Given the description of an element on the screen output the (x, y) to click on. 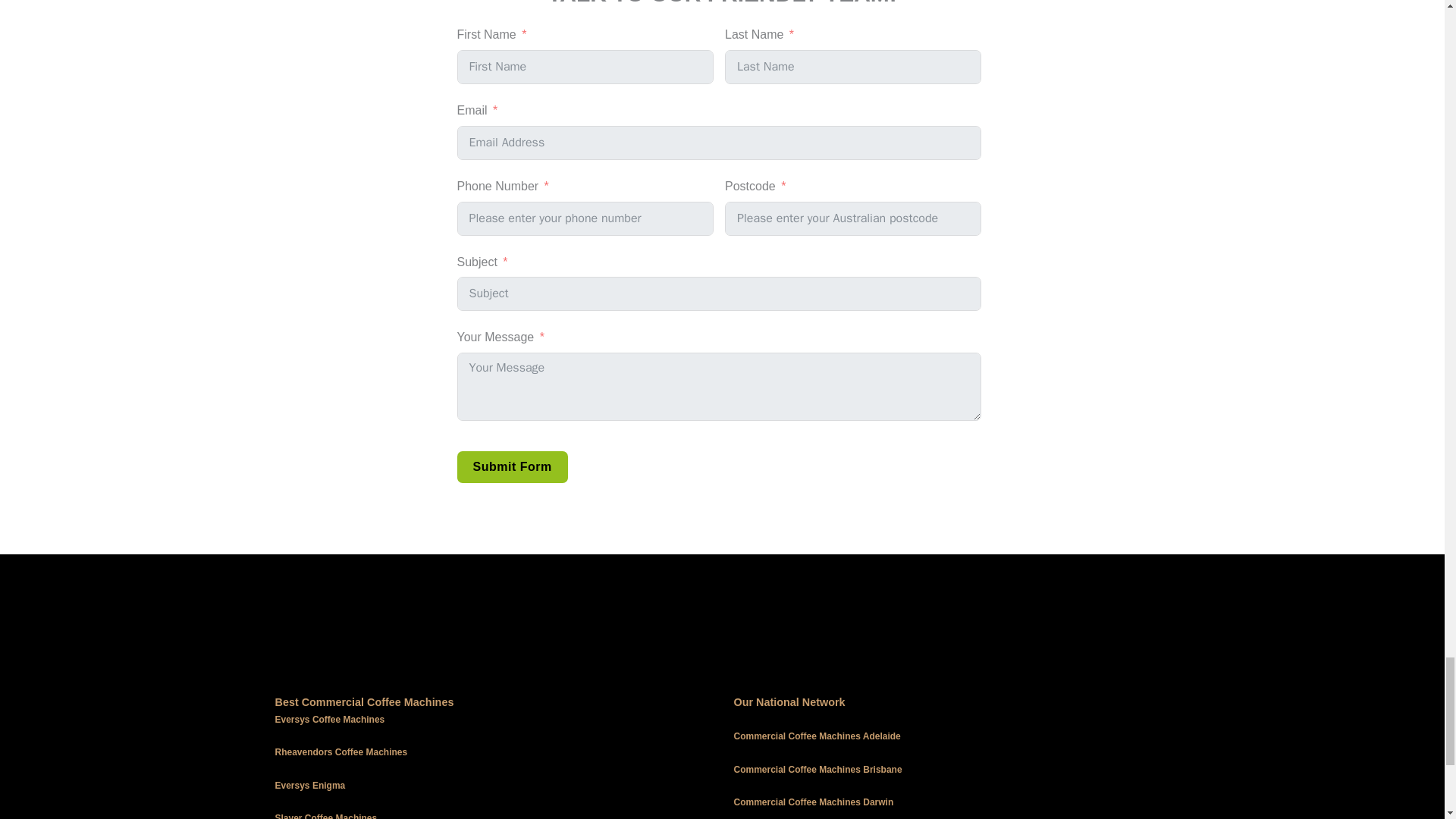
Submit Form (512, 467)
Eversys Enigma (310, 785)
Best Commercial Coffee Machines (363, 702)
Eversys Coffee Machines (329, 719)
Rheavendors Coffee Machines (341, 751)
